Given the description of an element on the screen output the (x, y) to click on. 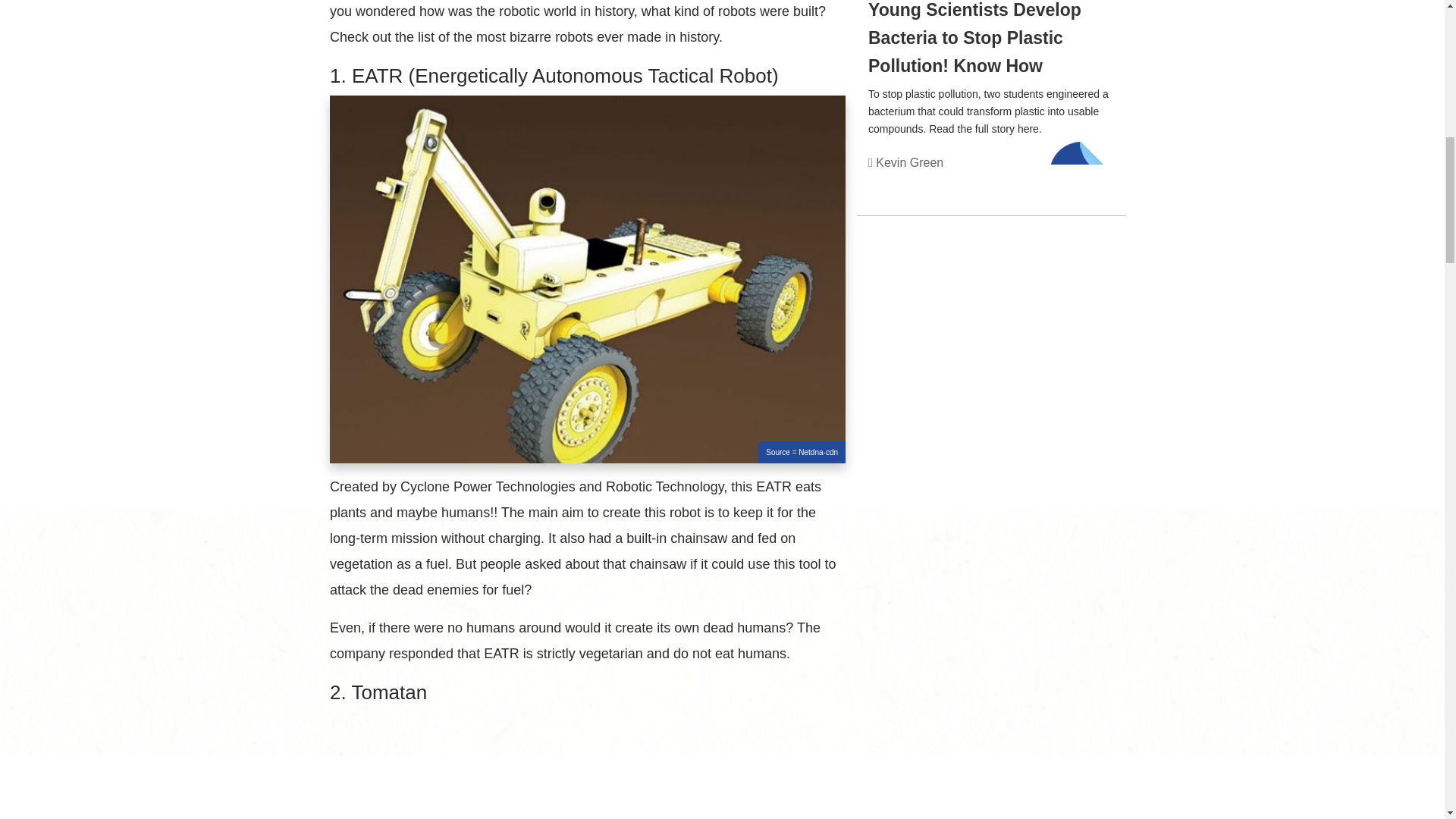
Technology (1082, 179)
Technology (1082, 179)
